Given the description of an element on the screen output the (x, y) to click on. 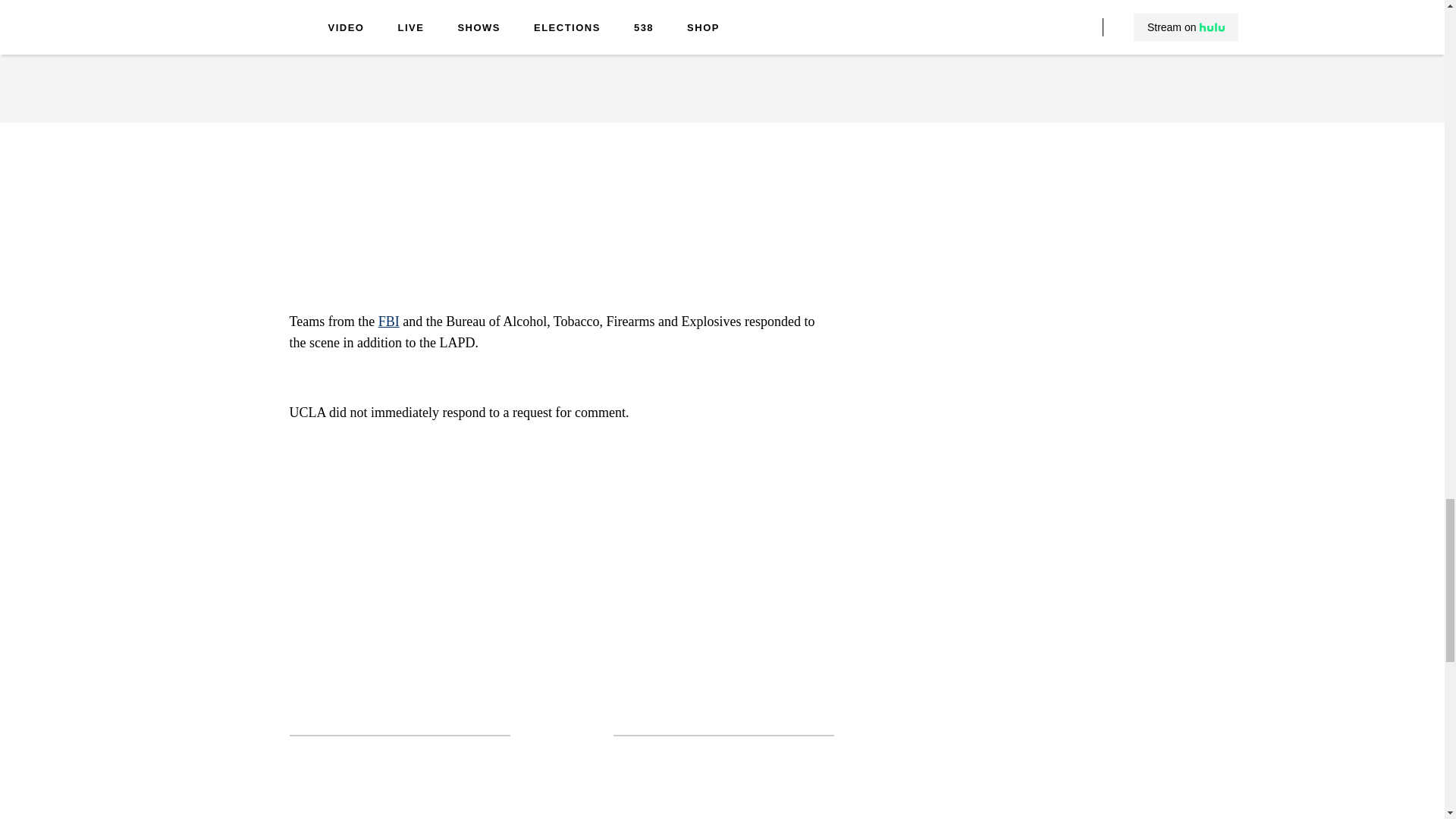
FBI (388, 321)
